Given the description of an element on the screen output the (x, y) to click on. 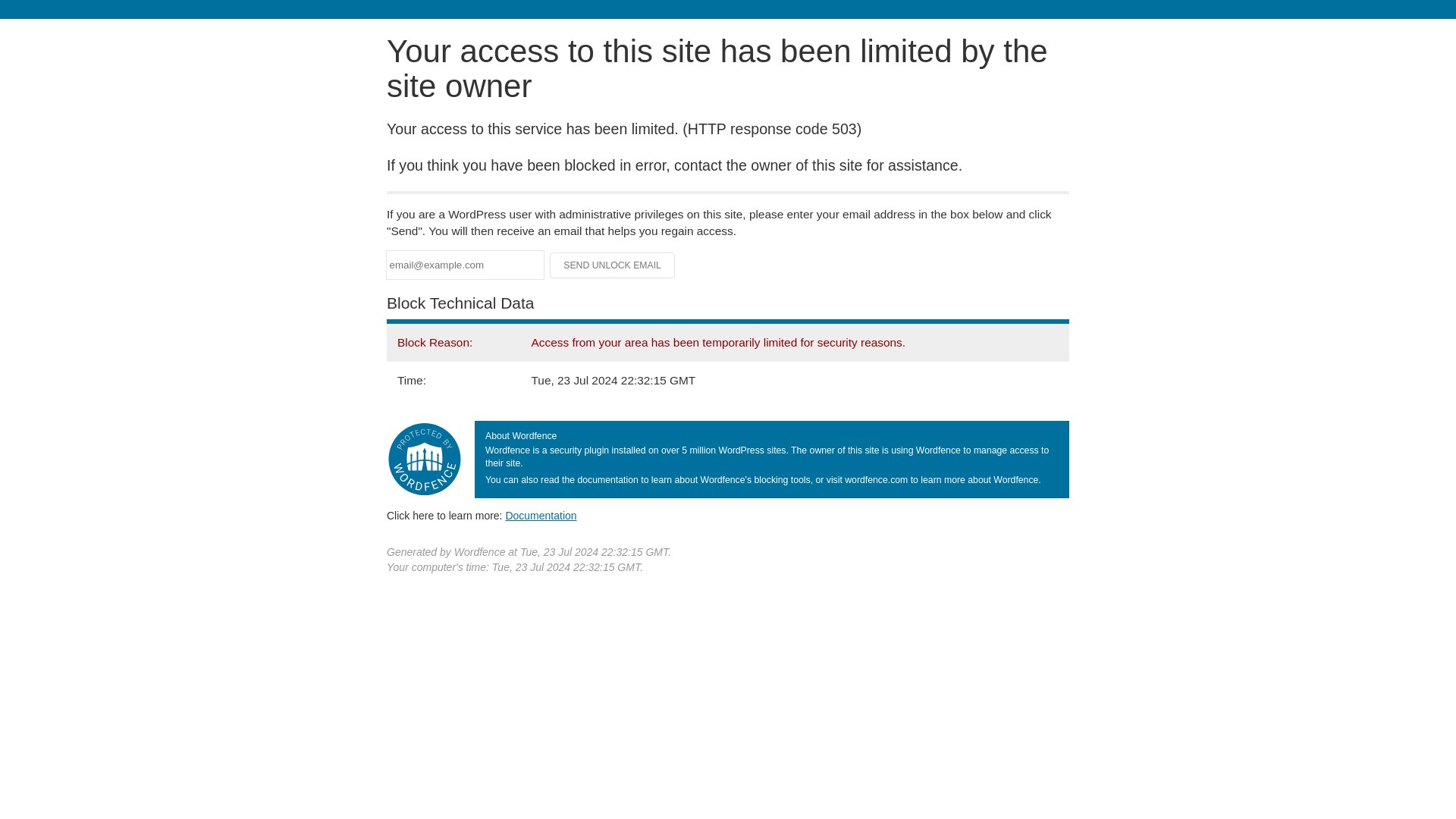
Documentation (540, 515)
Send Unlock Email (612, 265)
Send Unlock Email (612, 265)
